Given the description of an element on the screen output the (x, y) to click on. 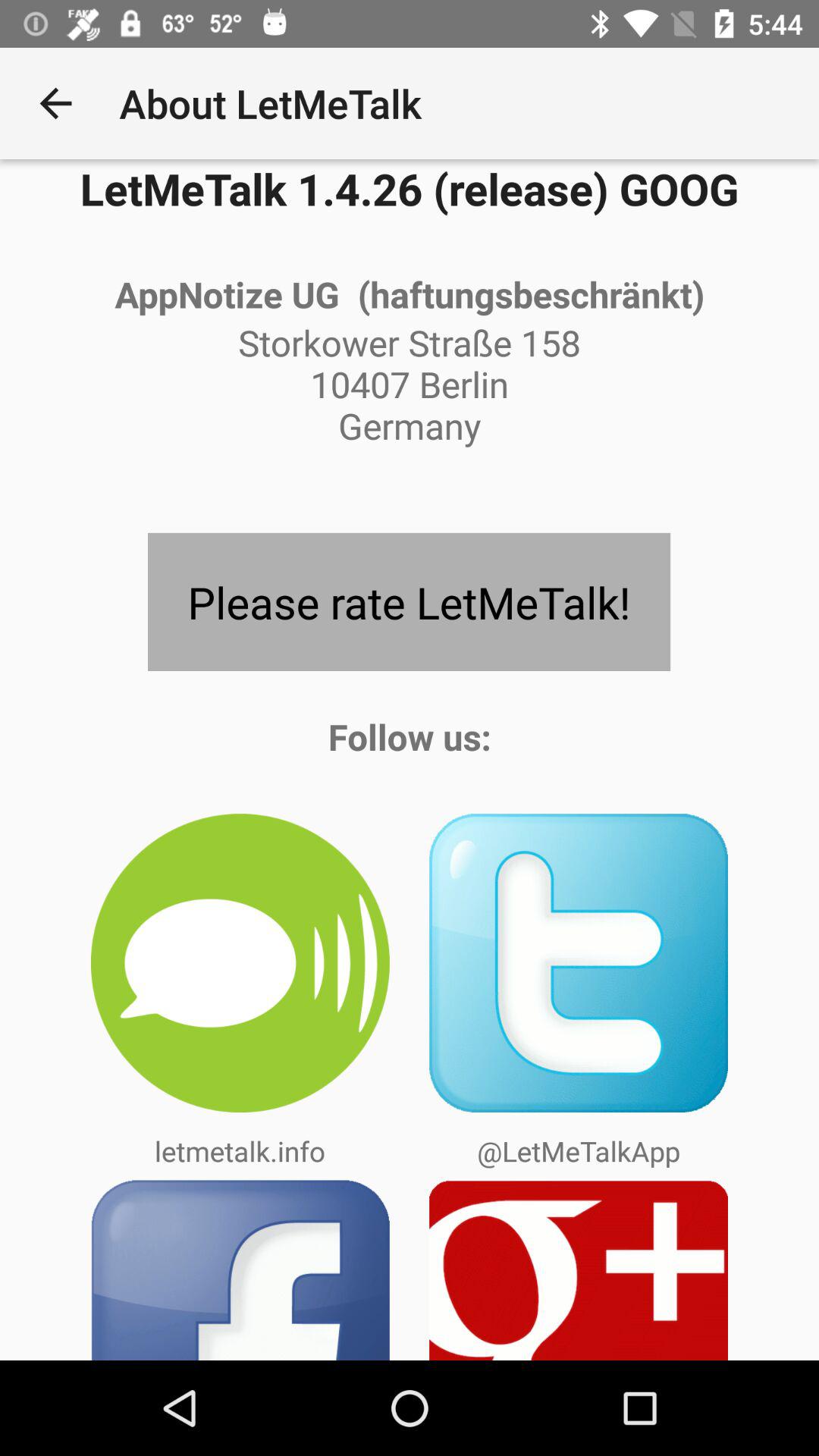
turn off app to the left of the about letmetalk icon (55, 103)
